Given the description of an element on the screen output the (x, y) to click on. 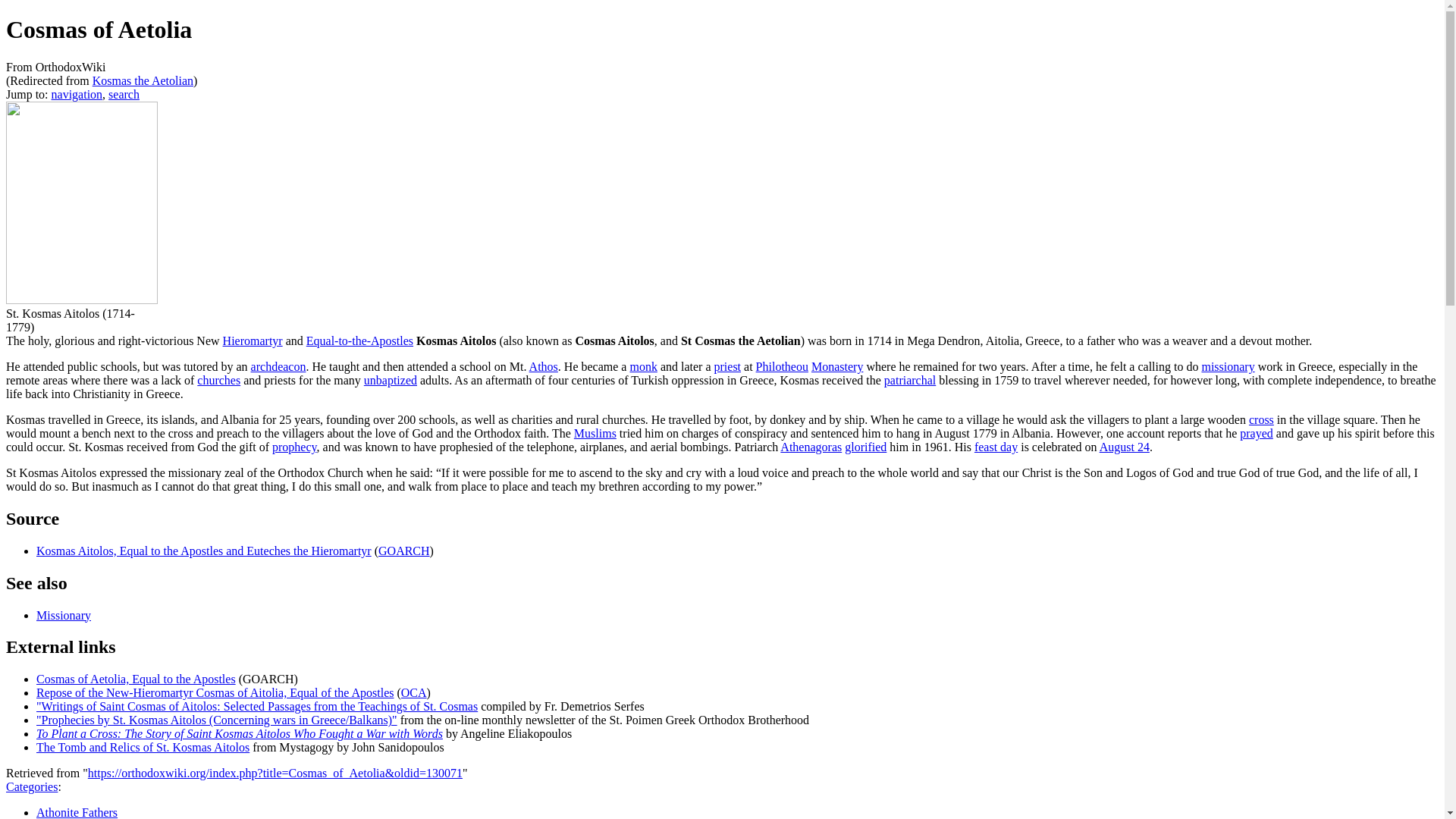
Missionary (63, 614)
churches (218, 379)
Muslims (594, 432)
Philotheou (781, 366)
cross (1261, 419)
search (123, 93)
prayed (1256, 432)
OCA (413, 692)
Categories (31, 786)
archdeacon (277, 366)
